Given the description of an element on the screen output the (x, y) to click on. 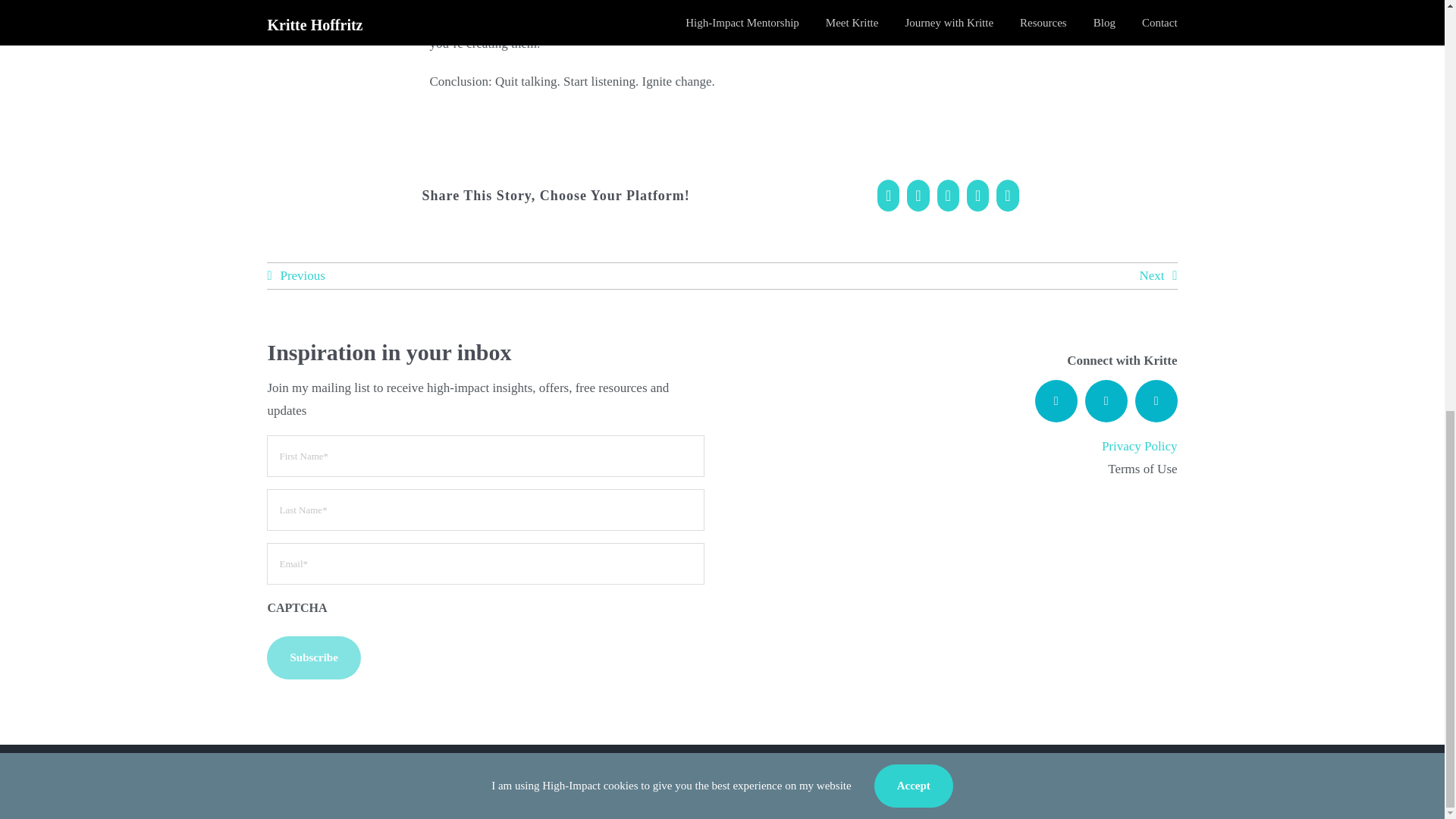
Previous (295, 275)
Subscribe (312, 657)
Privacy Policy (1139, 445)
Next (1157, 275)
Subscribe (312, 657)
